Given the description of an element on the screen output the (x, y) to click on. 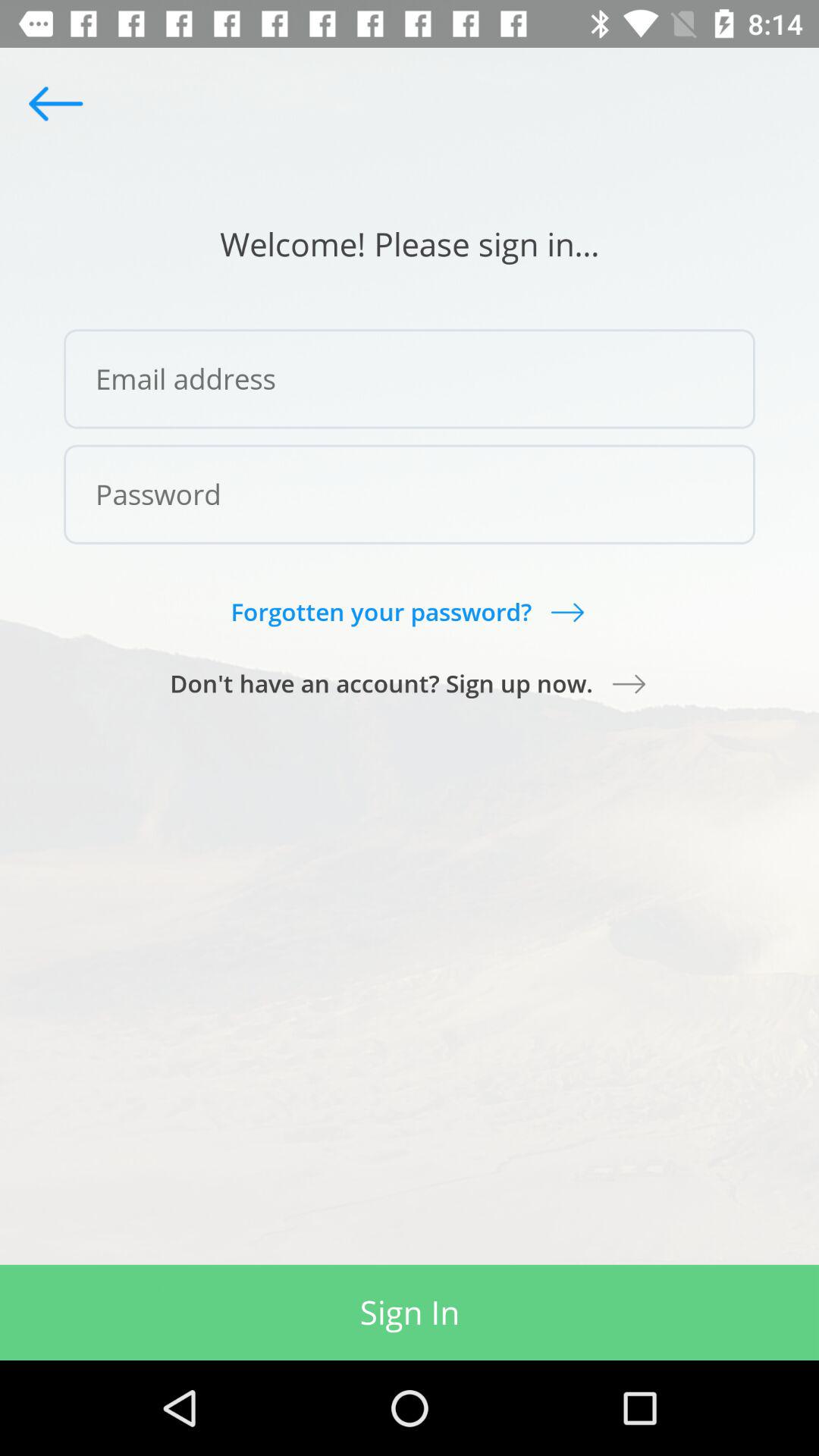
enter password (409, 494)
